Given the description of an element on the screen output the (x, y) to click on. 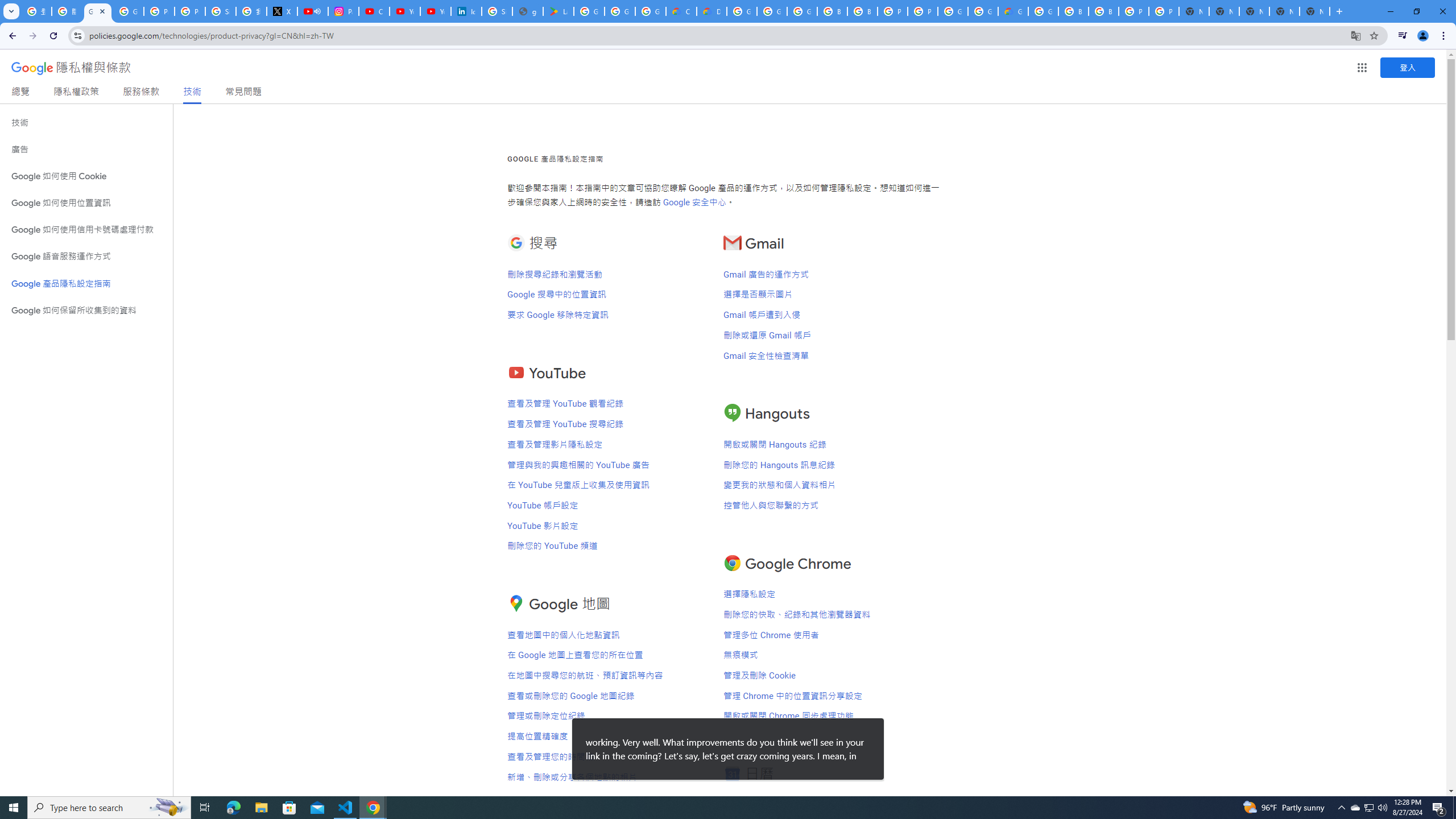
google_privacy_policy_en.pdf (527, 11)
Browse Chrome as a guest - Computer - Google Chrome Help (832, 11)
